Given the description of an element on the screen output the (x, y) to click on. 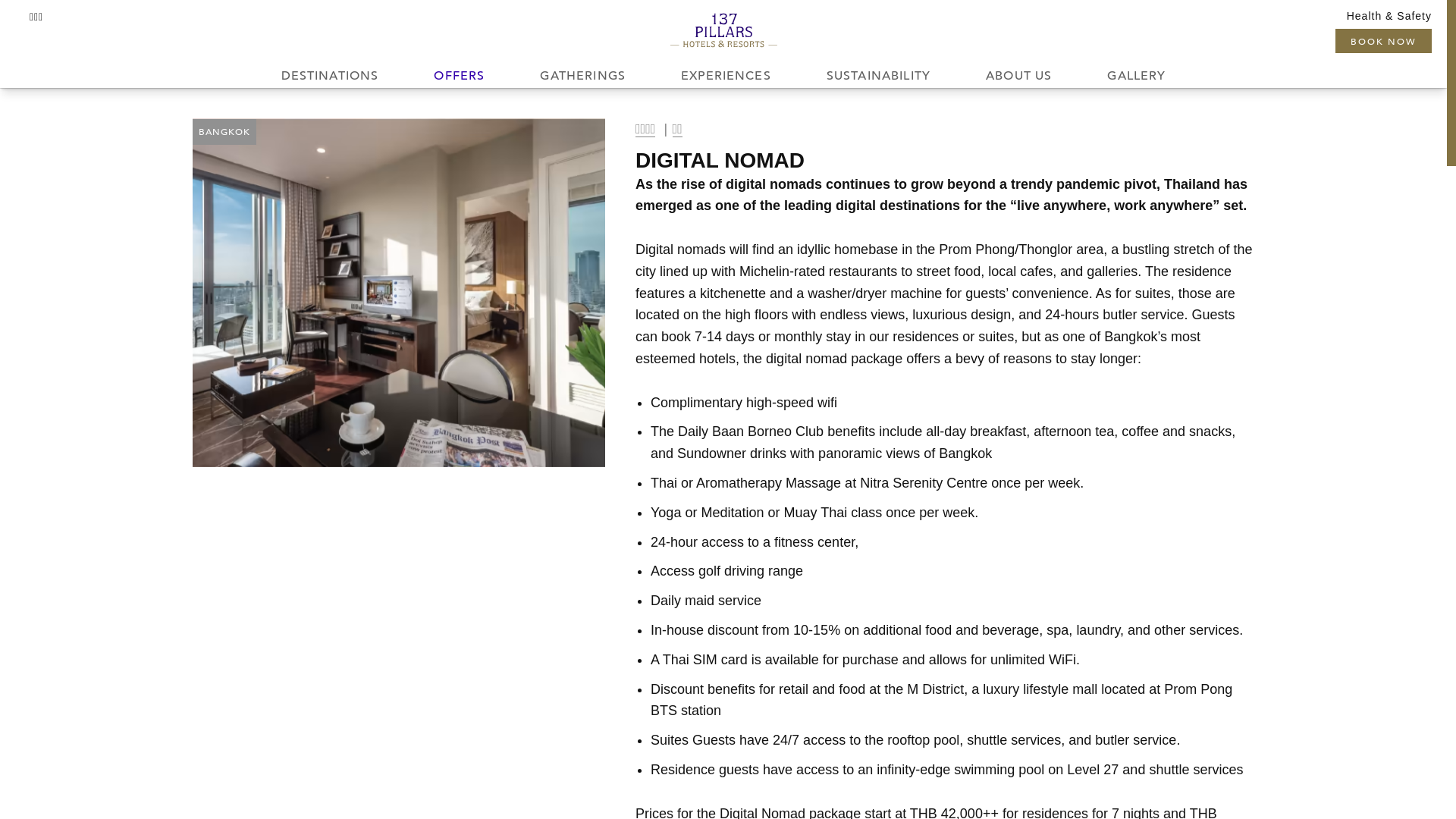
GATHERINGS Element type: text (582, 75)
OFFERS Element type: text (459, 75)
GALLERY Element type: text (1136, 75)
Health & Safety Element type: text (1388, 15)
Check Rates Element type: text (1294, 83)
BOOK NOW Element type: text (1383, 40)
DESTINATIONS Element type: text (329, 75)
SUSTAINABILITY Element type: text (877, 75)
137 PILLARS HOTELS & RESORTS Element type: text (723, 30)
ABOUT US Element type: text (1018, 75)
EXPERIENCES Element type: text (726, 75)
